Given the description of an element on the screen output the (x, y) to click on. 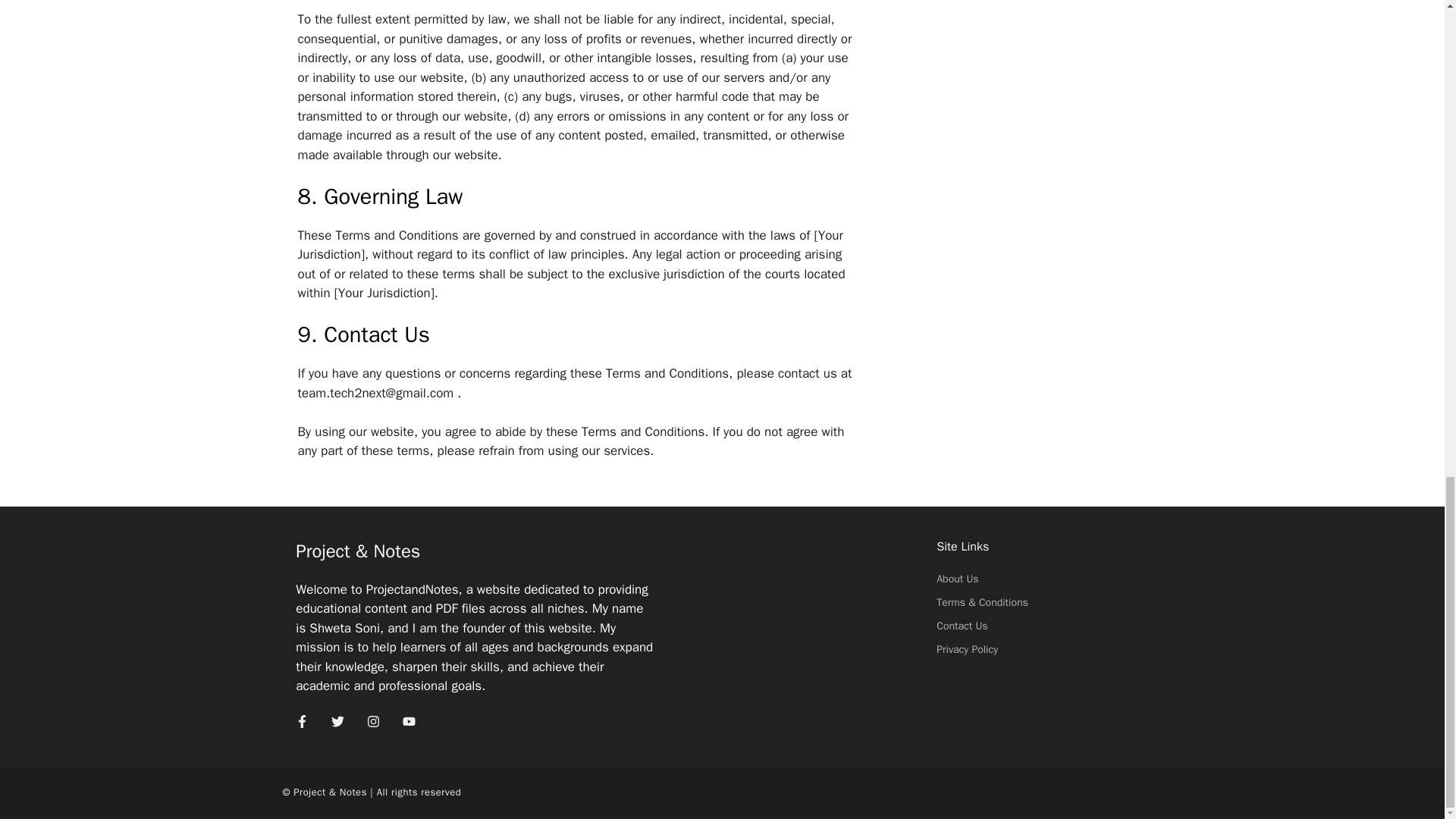
About Us (957, 578)
Contact Us (961, 625)
Privacy Policy (966, 649)
